Given the description of an element on the screen output the (x, y) to click on. 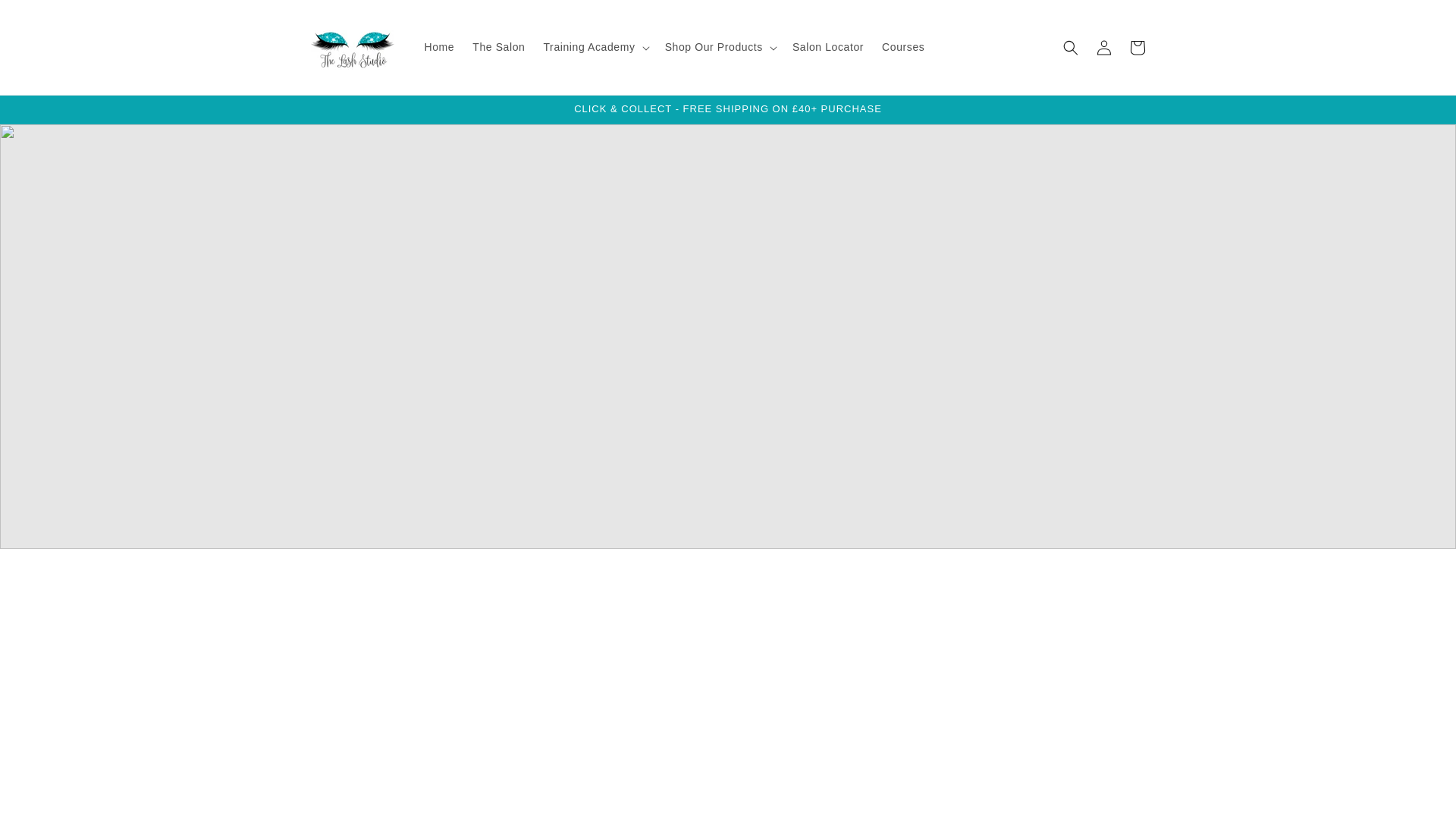
Courses (902, 47)
The Salon (498, 47)
Log in (1104, 46)
Salon Locator (827, 47)
Cart (1137, 46)
Home (439, 47)
Skip to content (45, 17)
